Given the description of an element on the screen output the (x, y) to click on. 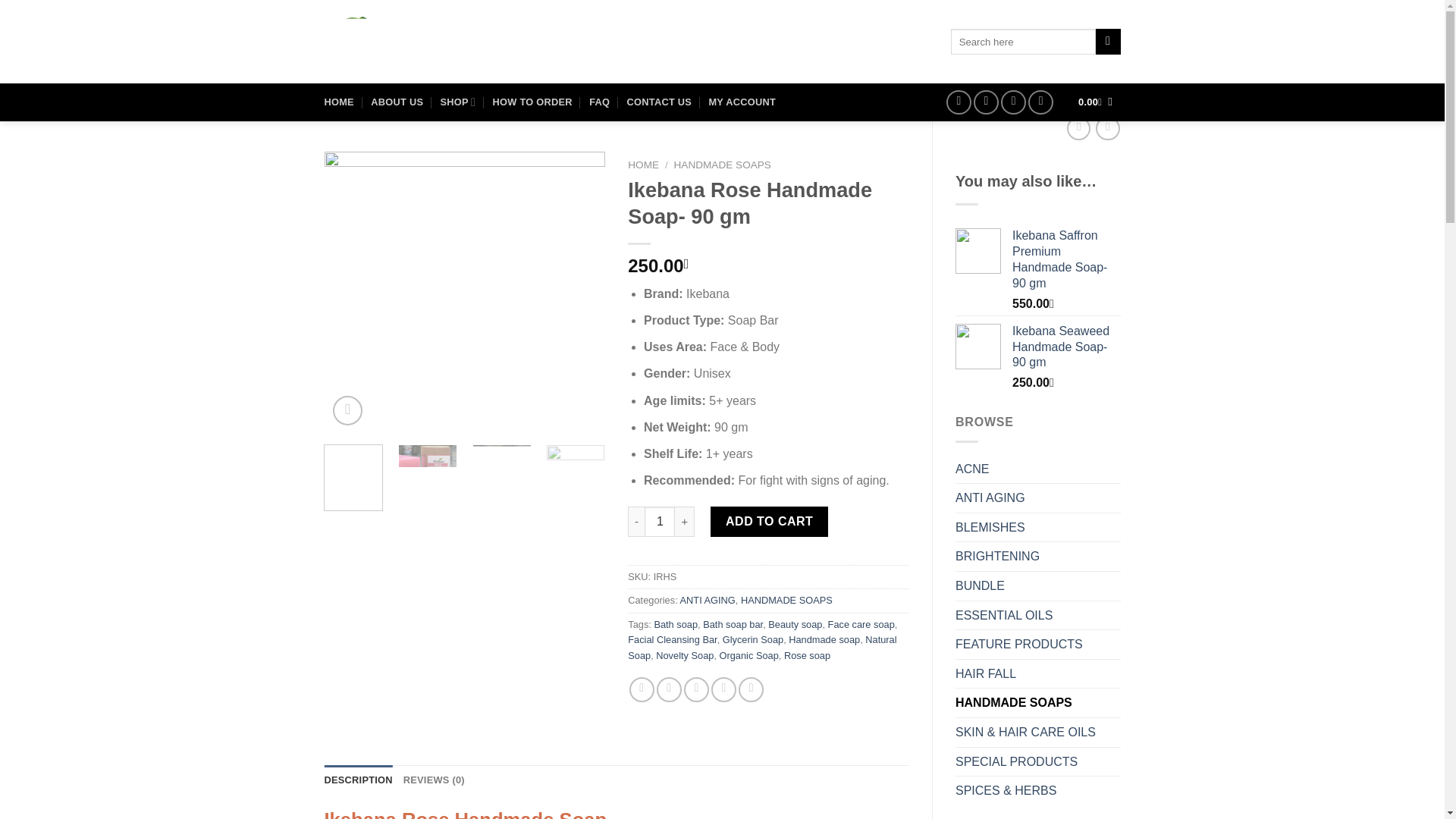
Ikebana Seaweed Handmade Soap- 90 gm (1066, 347)
ACNE (1038, 469)
1 (660, 521)
BUNDLE (1038, 585)
MY ACCOUNT (741, 102)
BRIGHTENING (1038, 556)
Ikebana Saffron Premium Handmade Soap- 90 gm (1066, 259)
CONTACT US (660, 102)
ANTI AGING (1038, 498)
Cart (1095, 102)
Call us (1013, 102)
Ikebana Saffron Premium Handmade Soap- 90 gm (1066, 259)
Follow on YouTube (1039, 102)
HOME (338, 102)
FEATURE PRODUCTS (1038, 644)
